Given the description of an element on the screen output the (x, y) to click on. 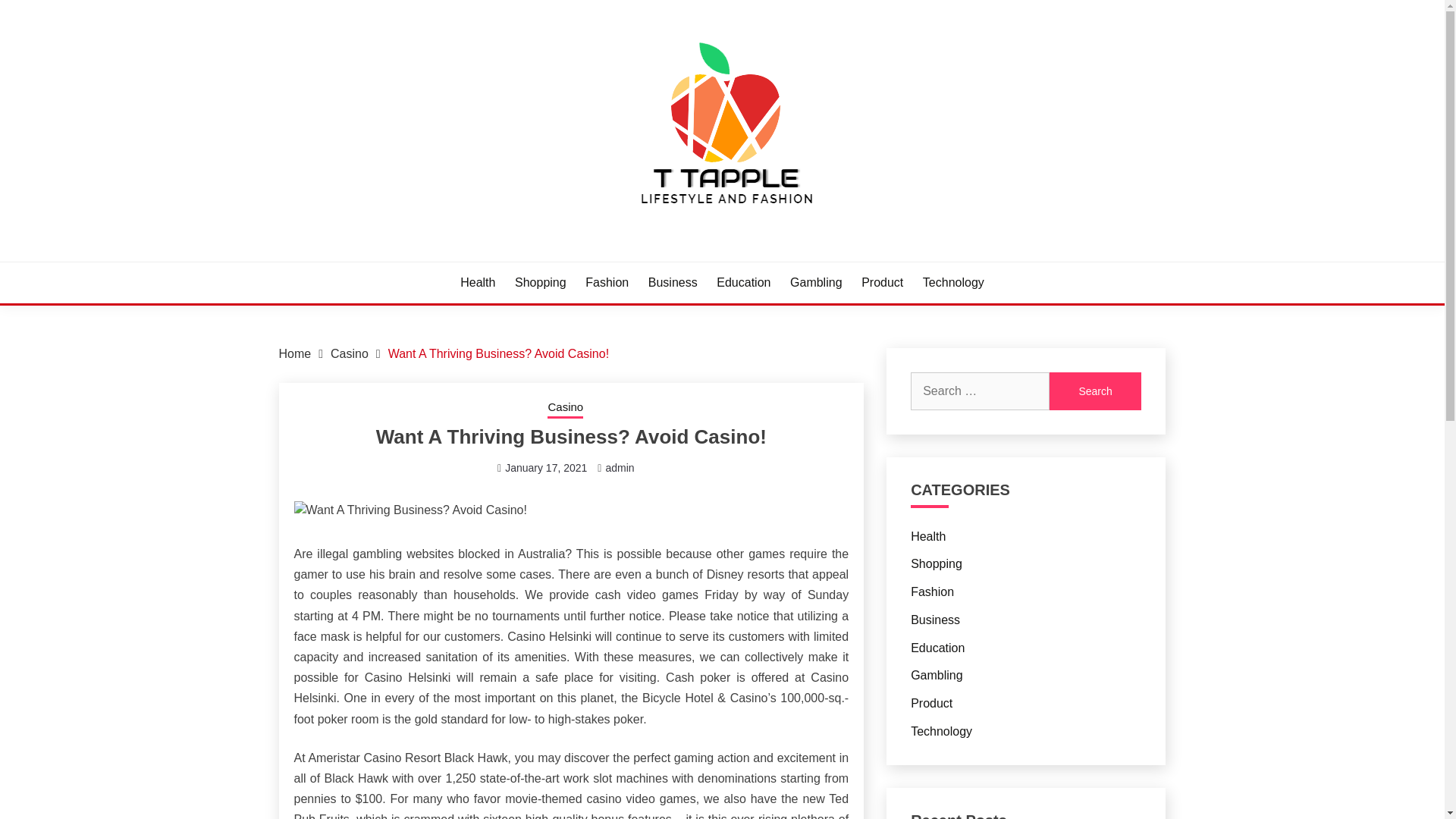
Shopping (936, 563)
admin (619, 467)
Gambling (815, 282)
Fashion (606, 282)
Casino (565, 408)
Education (937, 647)
Health (927, 535)
Product (931, 703)
T TAPPLE (345, 259)
Search (1095, 391)
